Given the description of an element on the screen output the (x, y) to click on. 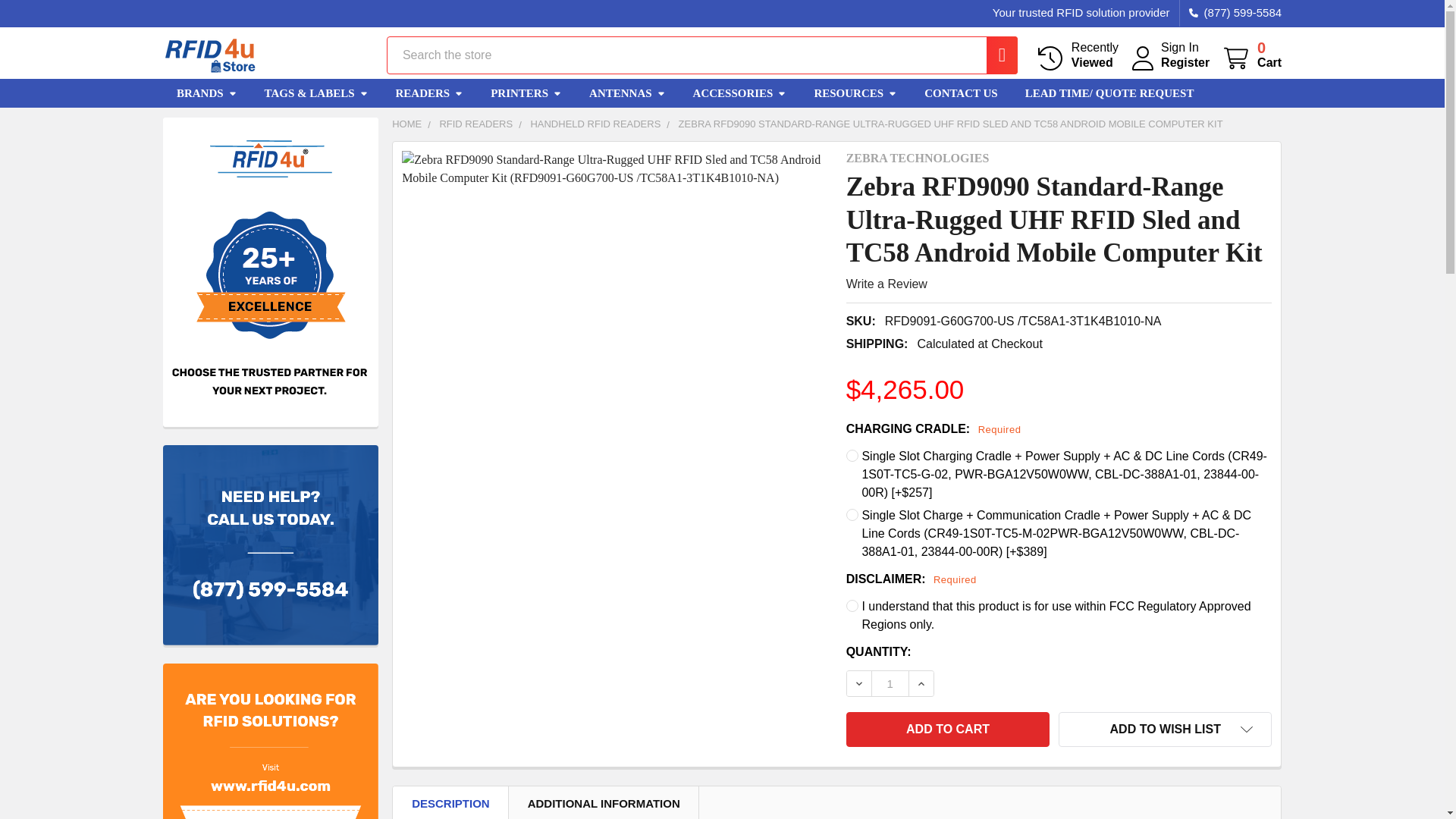
Sign In (1179, 47)
BRANDS (206, 93)
Recently Viewed (1076, 55)
READERS (1076, 55)
5203 (429, 93)
5196 (994, 55)
